Given the description of an element on the screen output the (x, y) to click on. 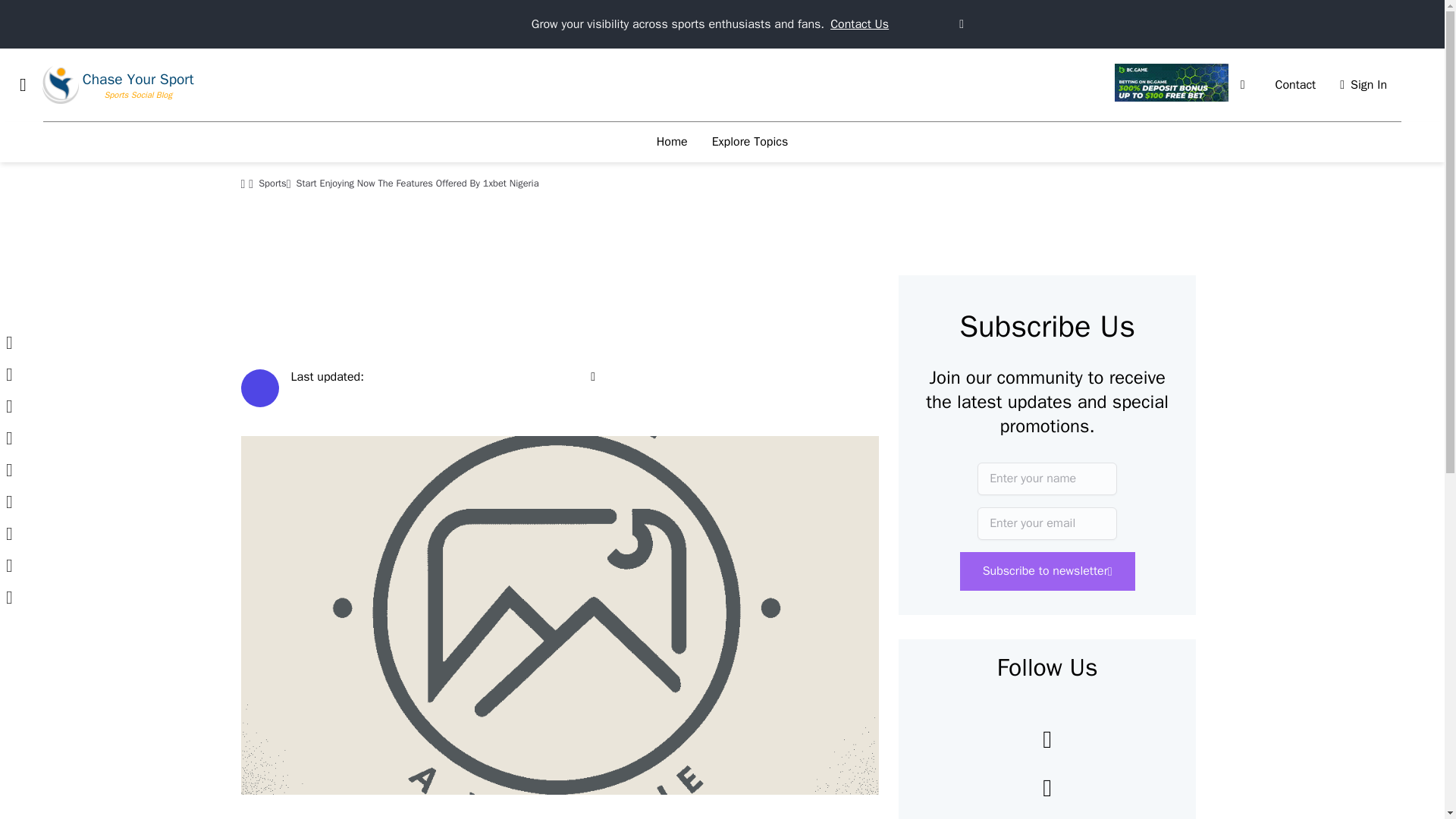
Contact (1295, 84)
Contact Us (858, 24)
Subscribe to newsletter (1047, 571)
Sign In (1363, 84)
Sports (272, 183)
Explore Topics (750, 141)
Home (672, 141)
